Given the description of an element on the screen output the (x, y) to click on. 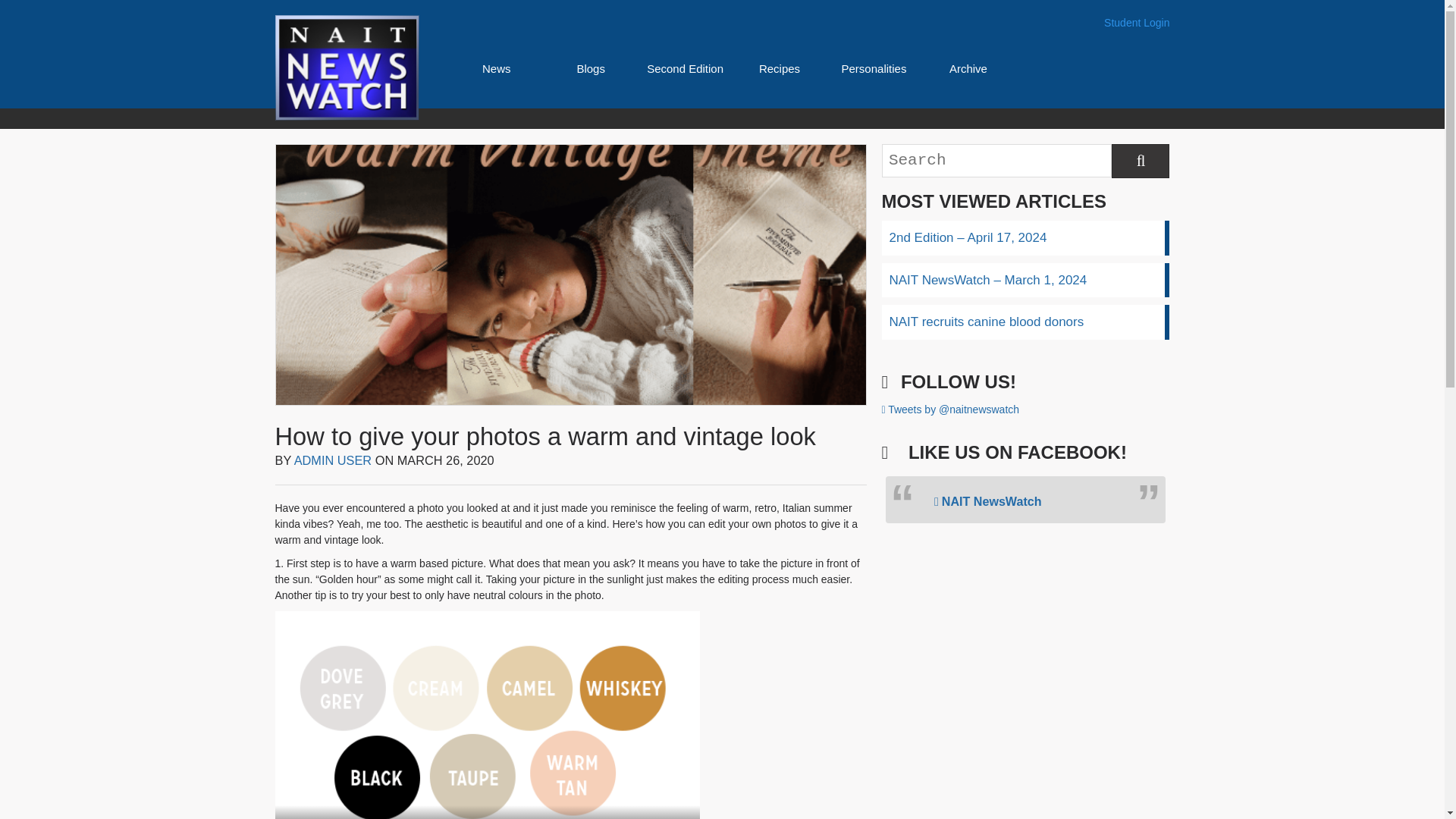
Recipes (778, 68)
Personalities (874, 68)
Second Edition (684, 68)
ADMIN USER (333, 459)
Archive (968, 68)
NAIT recruits canine blood donors (1024, 321)
Student Login (1136, 23)
NAIT NewsWatch (988, 500)
News (496, 68)
Blogs (590, 68)
